Given the description of an element on the screen output the (x, y) to click on. 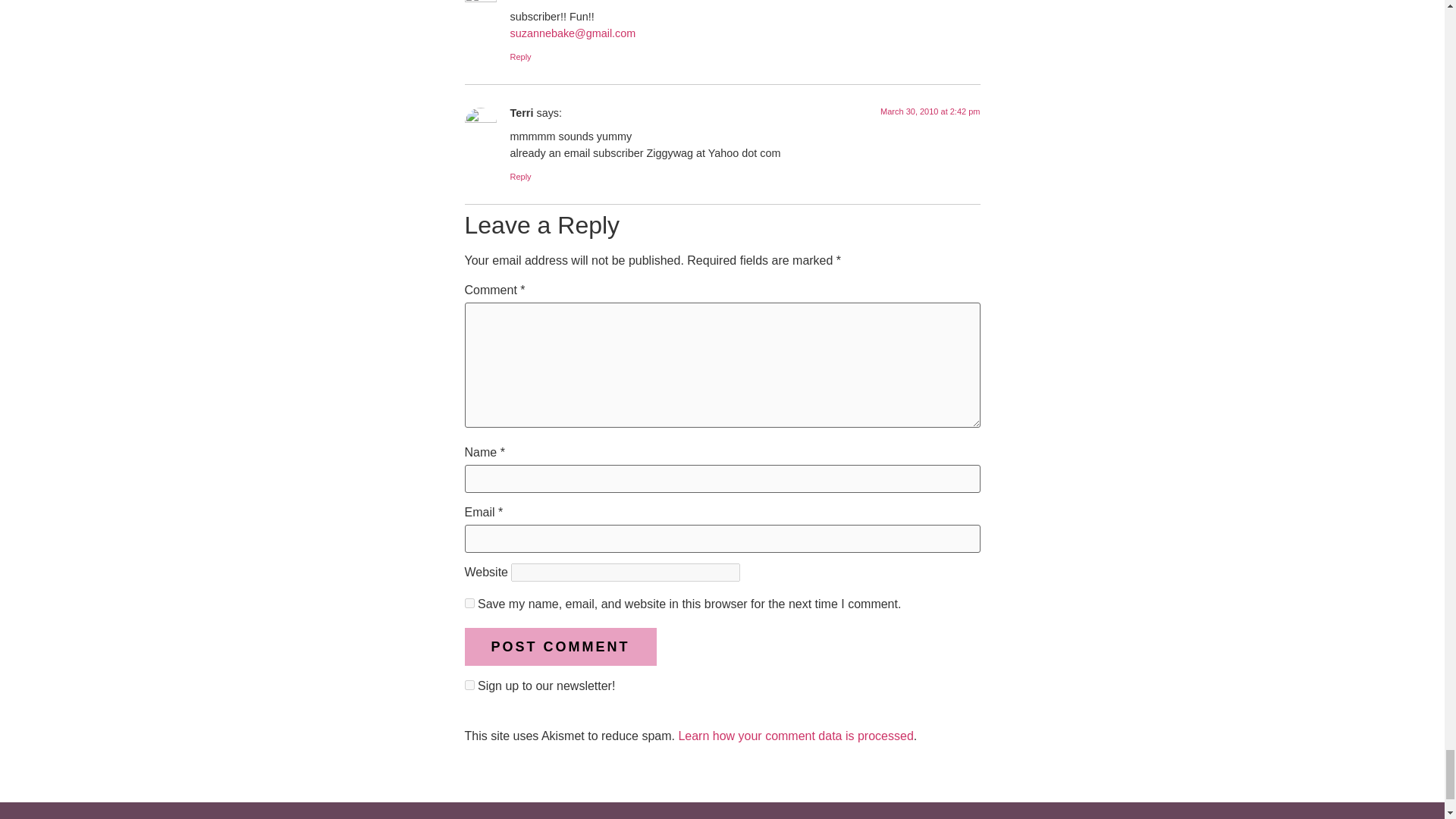
yes (469, 603)
1 (469, 685)
Post Comment (560, 647)
